Given the description of an element on the screen output the (x, y) to click on. 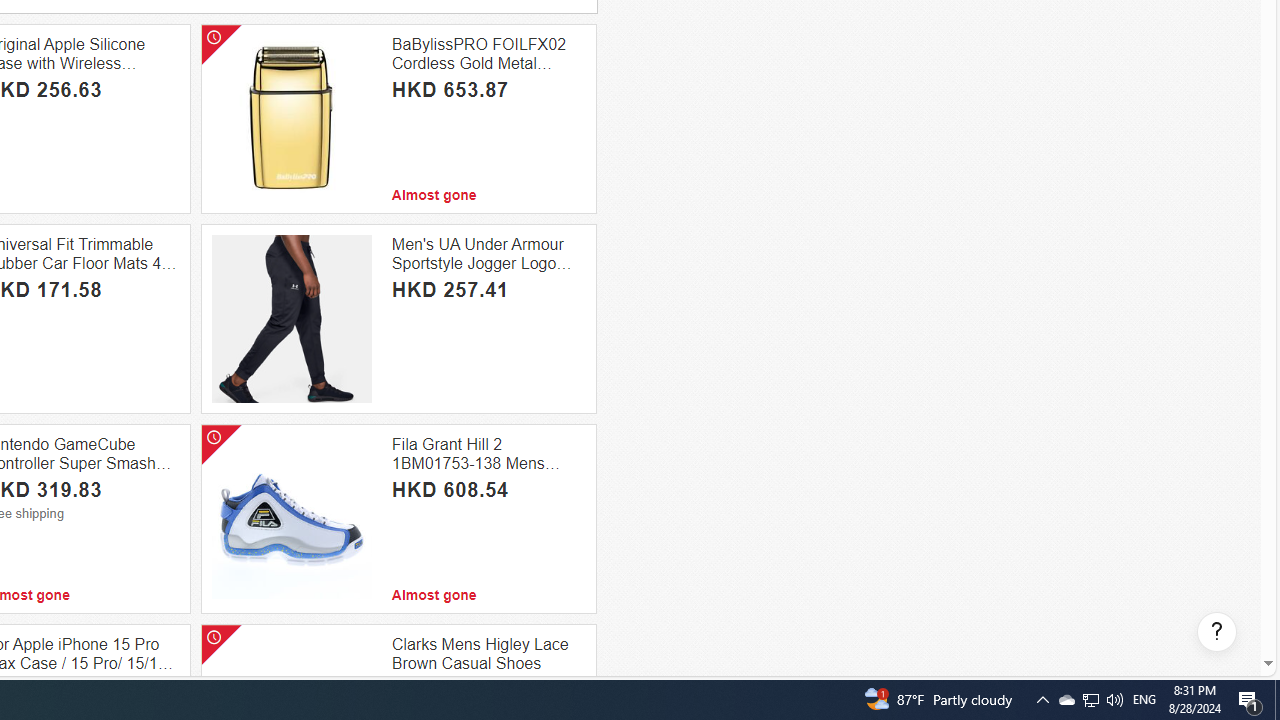
Clarks Mens Higley Lace Brown Casual Shoes (488, 654)
Help, opens dialogs (1217, 632)
